Given the description of an element on the screen output the (x, y) to click on. 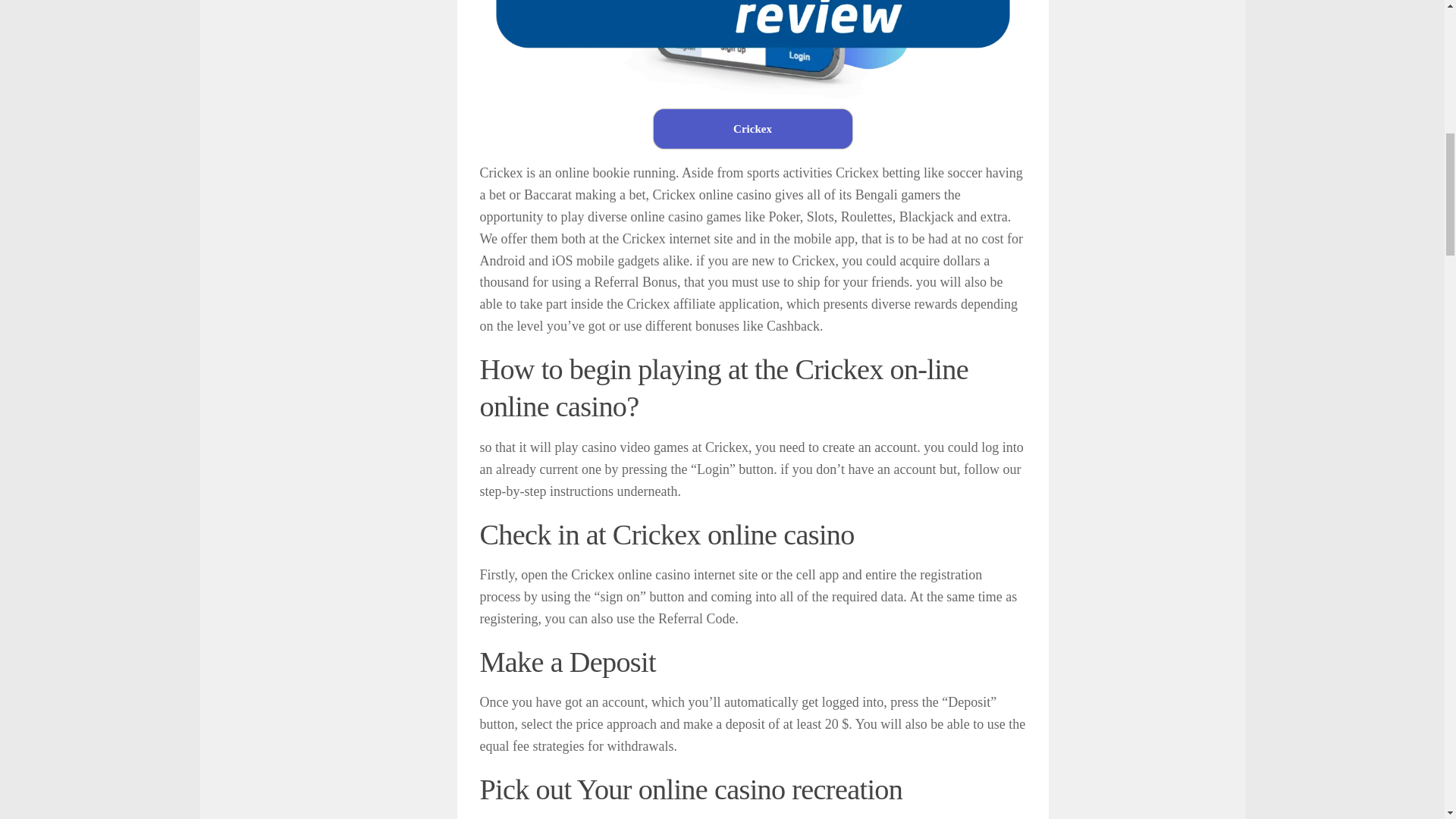
Crickex (752, 128)
Crickex (752, 128)
